Given the description of an element on the screen output the (x, y) to click on. 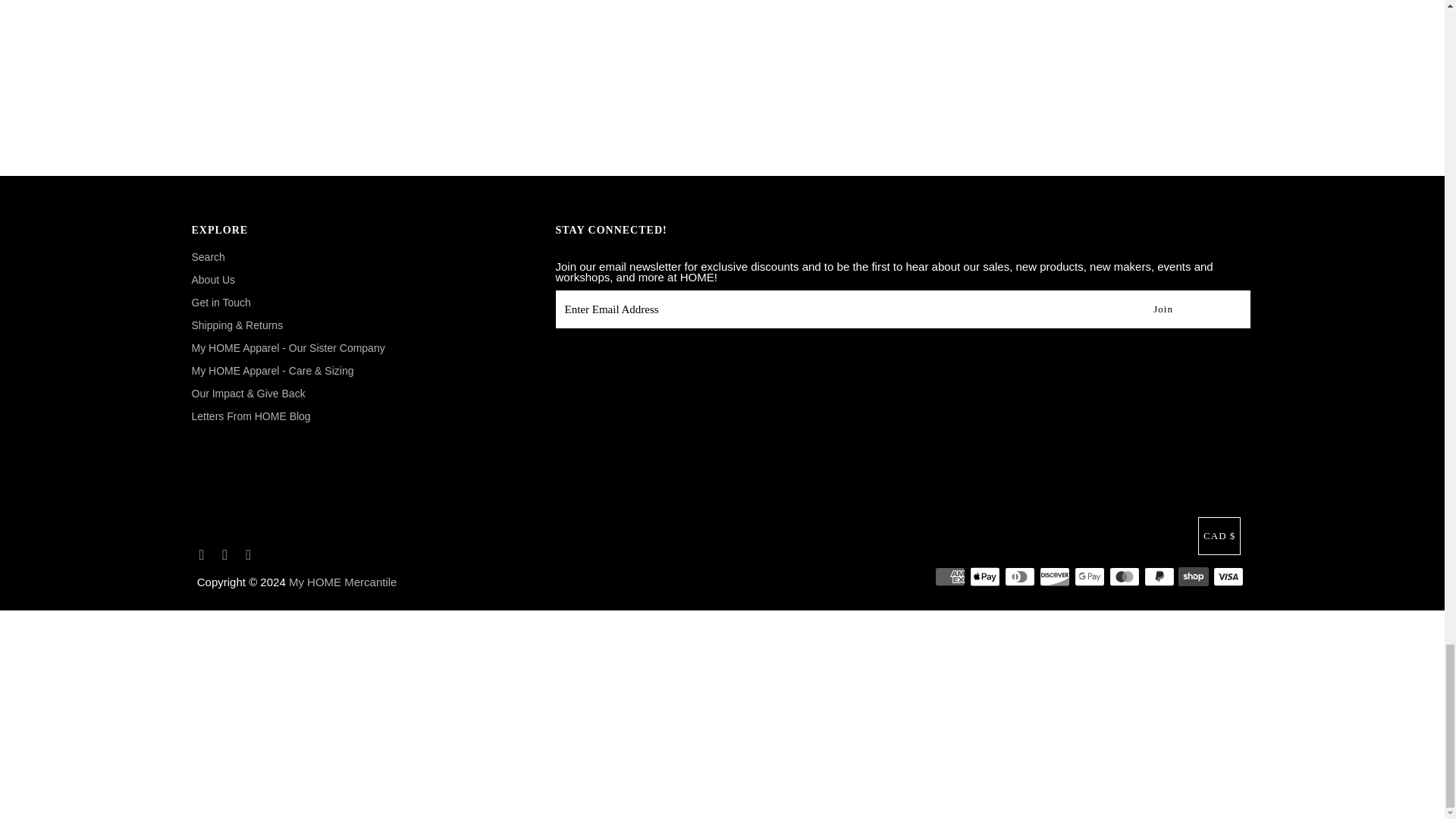
PayPal (1159, 576)
Google Pay (1089, 576)
Discover (1054, 576)
Mastercard (1124, 576)
Join (1163, 309)
Shop Pay (1192, 576)
Diners Club (1019, 576)
Apple Pay (984, 576)
Visa (1227, 576)
American Express (949, 576)
